Given the description of an element on the screen output the (x, y) to click on. 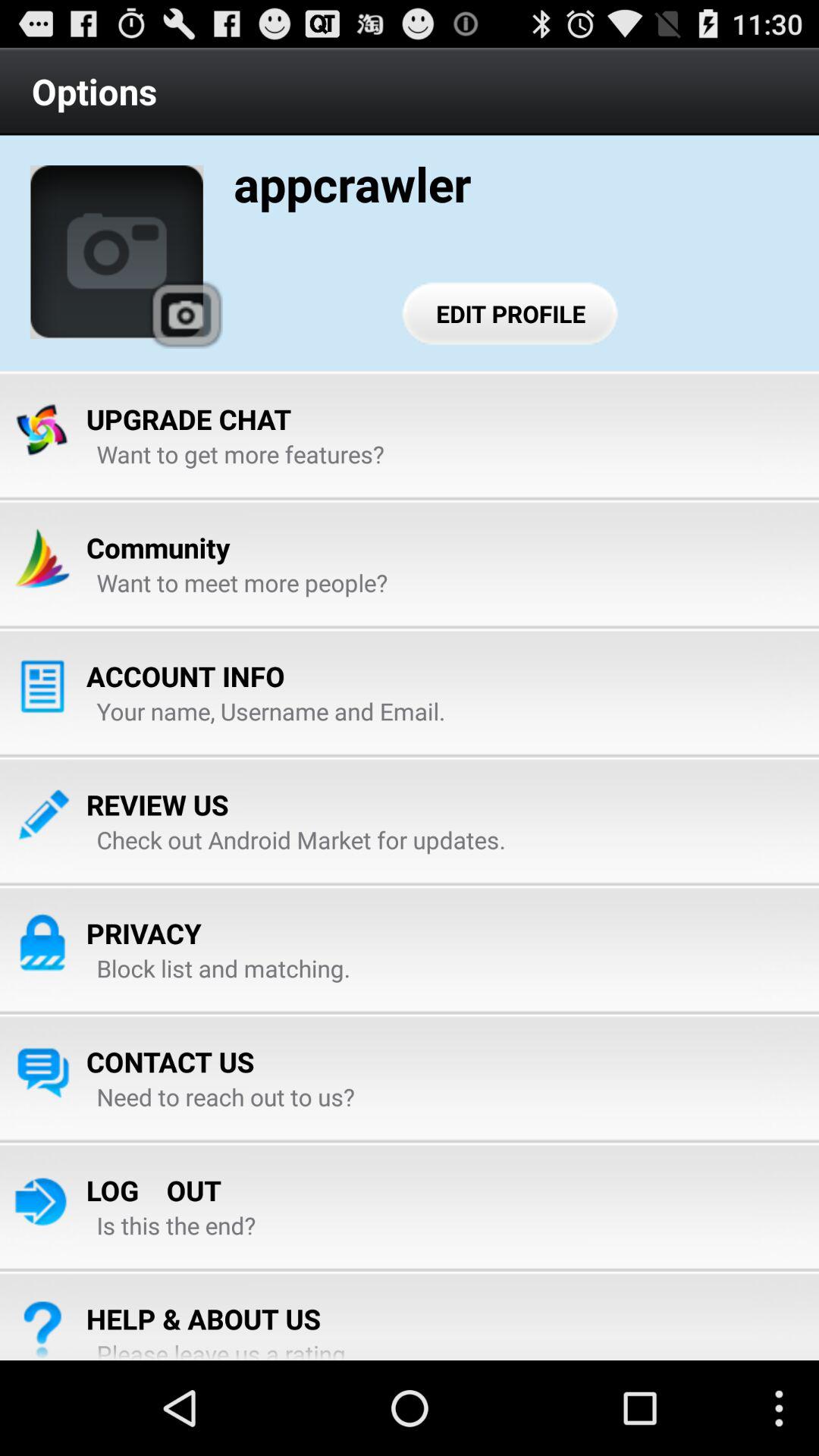
scroll until edit profile item (510, 313)
